Given the description of an element on the screen output the (x, y) to click on. 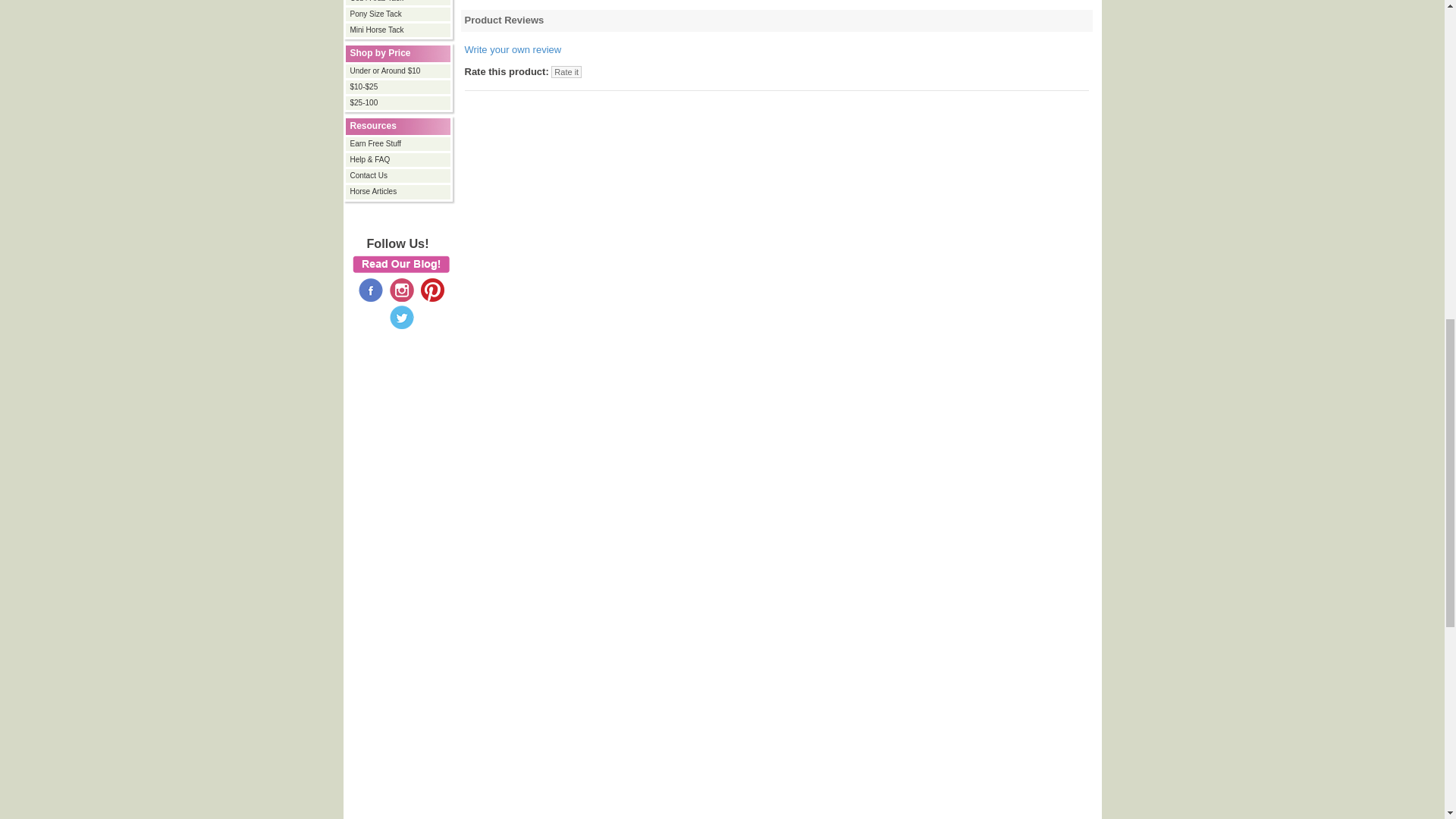
Follow us on Twitter! (401, 316)
Visit our Blog! (400, 264)
Visit our Pinterest page! (432, 288)
Follow us on Instagram! (401, 288)
Rate it (565, 71)
Like us on Facebook! (370, 288)
